Given the description of an element on the screen output the (x, y) to click on. 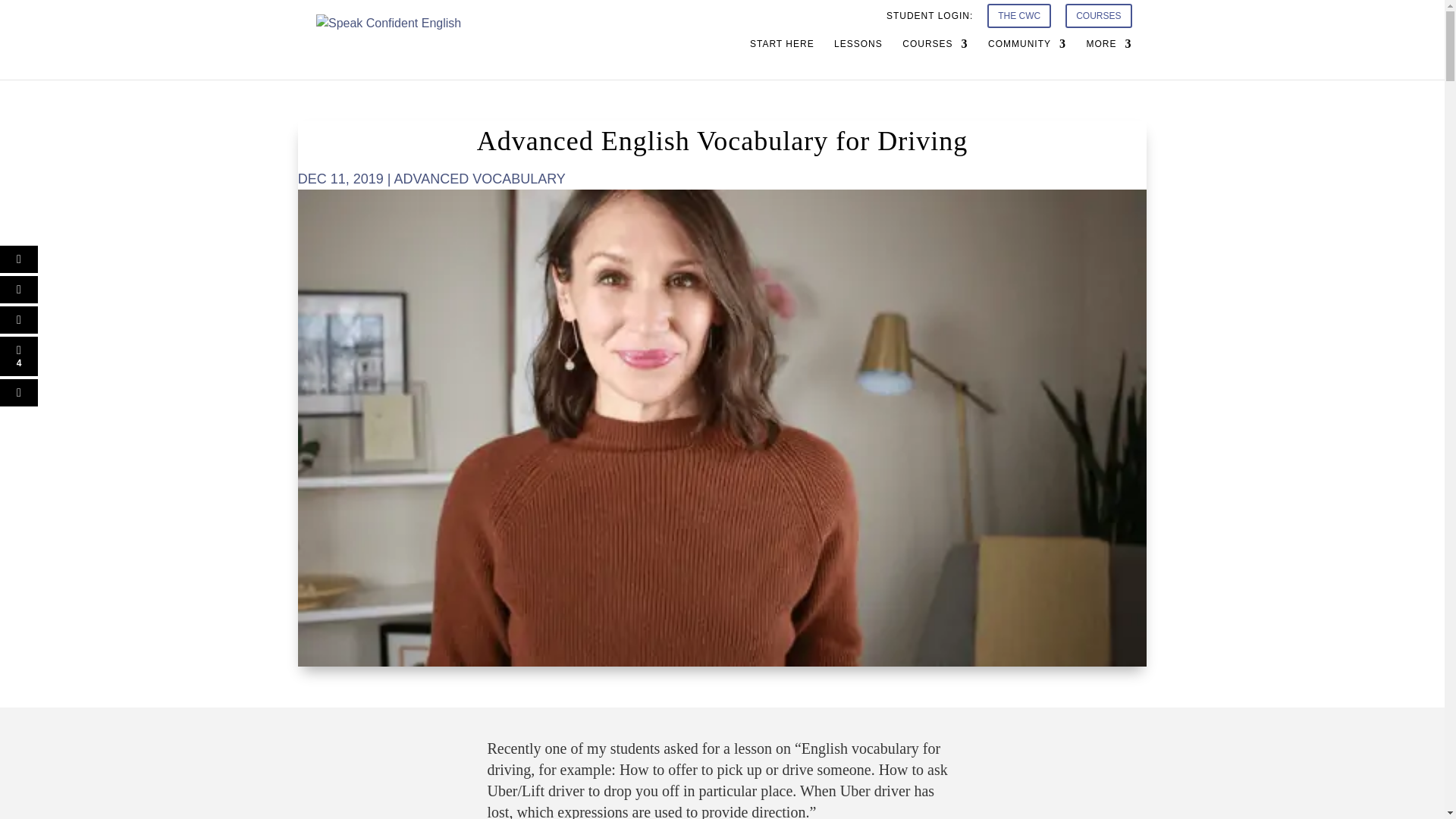
COURSES (935, 57)
MORE (1108, 57)
ADVANCED VOCABULARY (478, 178)
COURSES (1098, 20)
THE CWC (1019, 20)
START HERE (781, 57)
LESSONS (858, 57)
COMMUNITY (1026, 57)
STUDENT LOGIN: (929, 19)
